Given the description of an element on the screen output the (x, y) to click on. 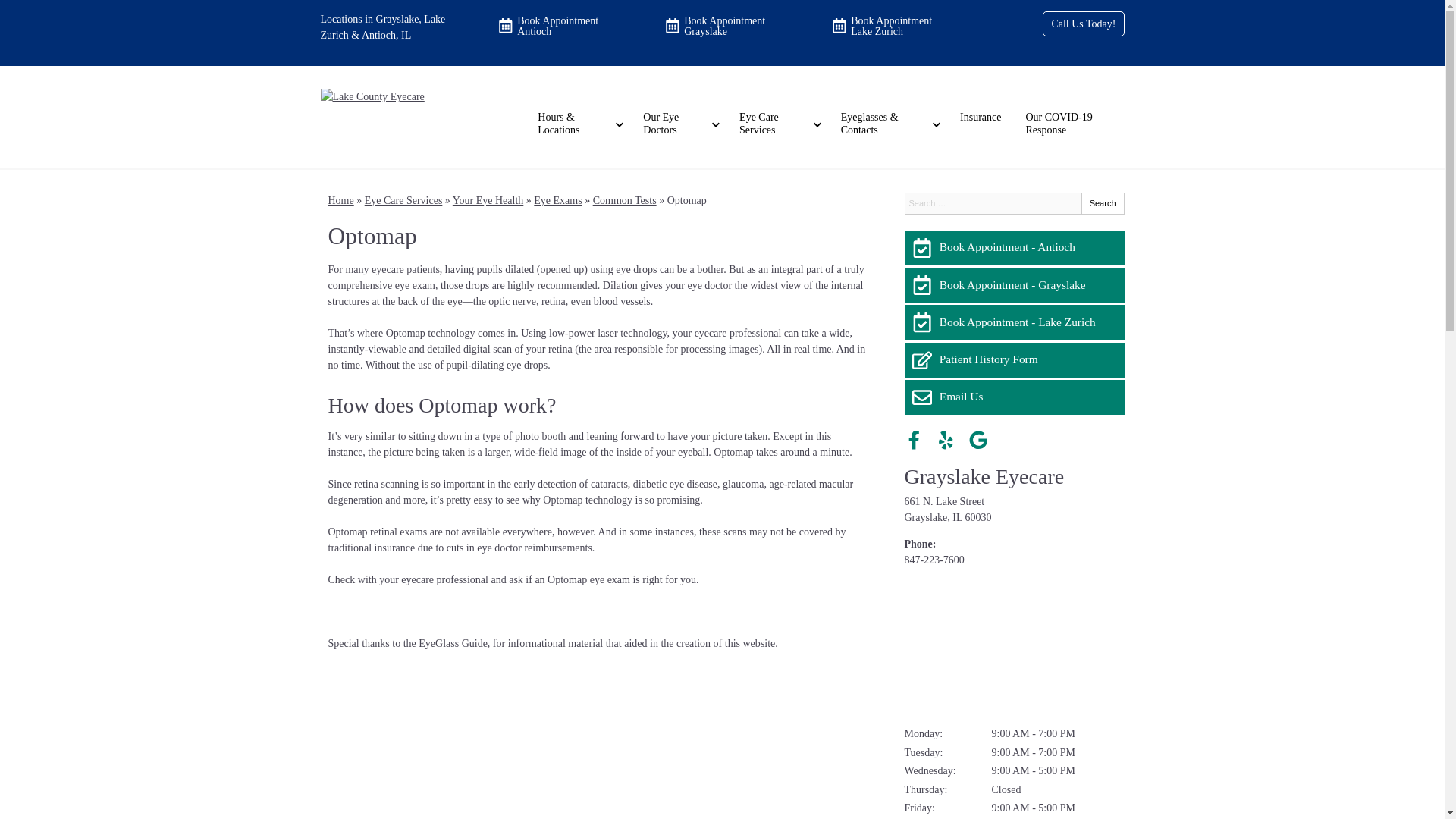
Our Eye Doctors (678, 124)
Book Appointment Grayslake (721, 26)
Book Appointment Antioch (554, 26)
Our COVID-19 Response (1074, 124)
Google map (1014, 646)
Insurance (980, 117)
Eye Care Services (777, 124)
Book Appointment Lake Zurich (888, 26)
